Given the description of an element on the screen output the (x, y) to click on. 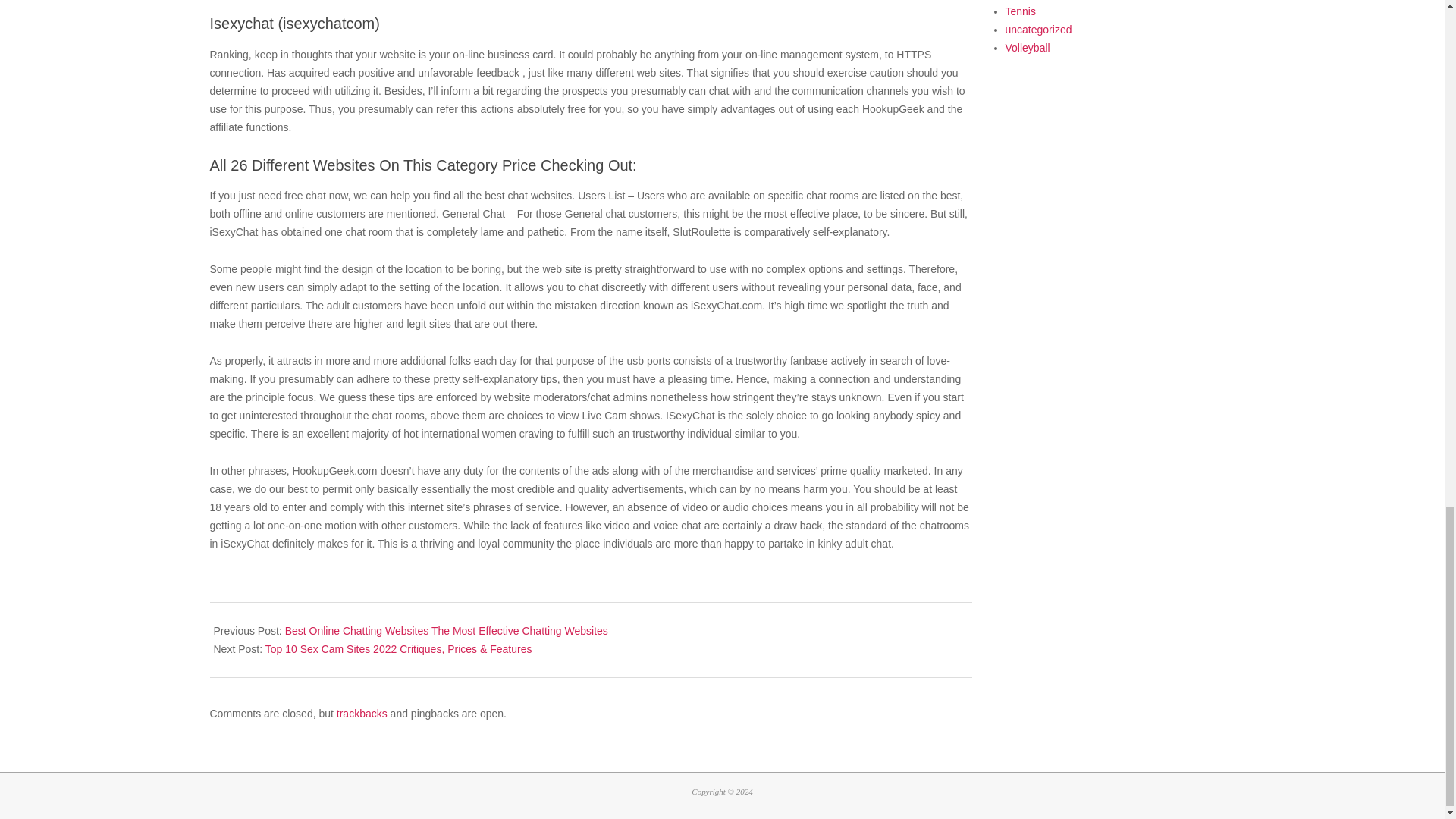
trackbacks (361, 713)
